Given the description of an element on the screen output the (x, y) to click on. 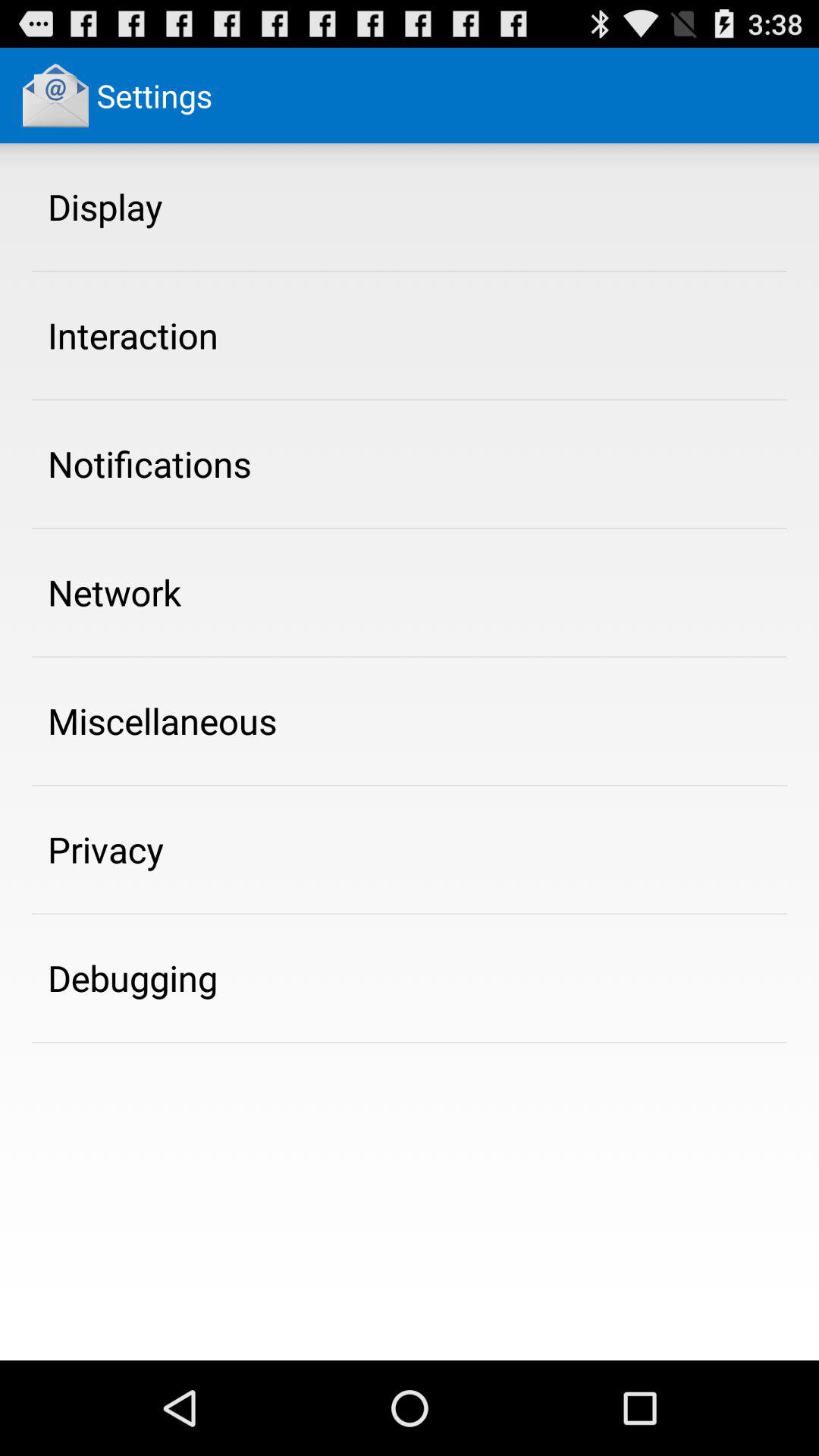
select item above interaction (104, 206)
